Given the description of an element on the screen output the (x, y) to click on. 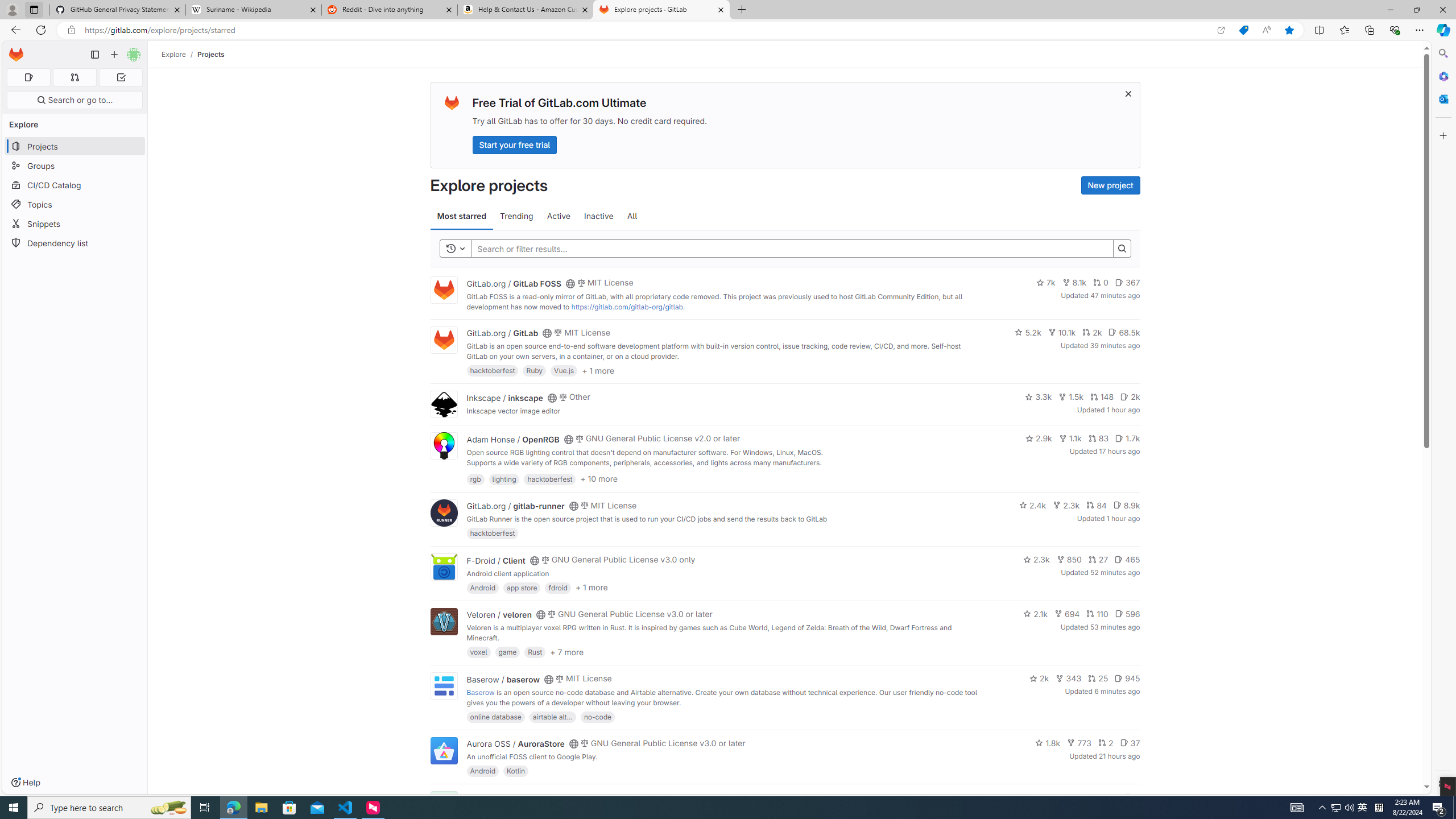
850 (1068, 559)
Toggle history (455, 248)
hacktoberfest (492, 533)
New project (1110, 185)
Kotlin (515, 770)
Active (559, 216)
+ 10 more (599, 478)
Veloren / veloren (498, 614)
no-code (597, 715)
Inkscape / inkscape (504, 397)
online database (495, 715)
